Given the description of an element on the screen output the (x, y) to click on. 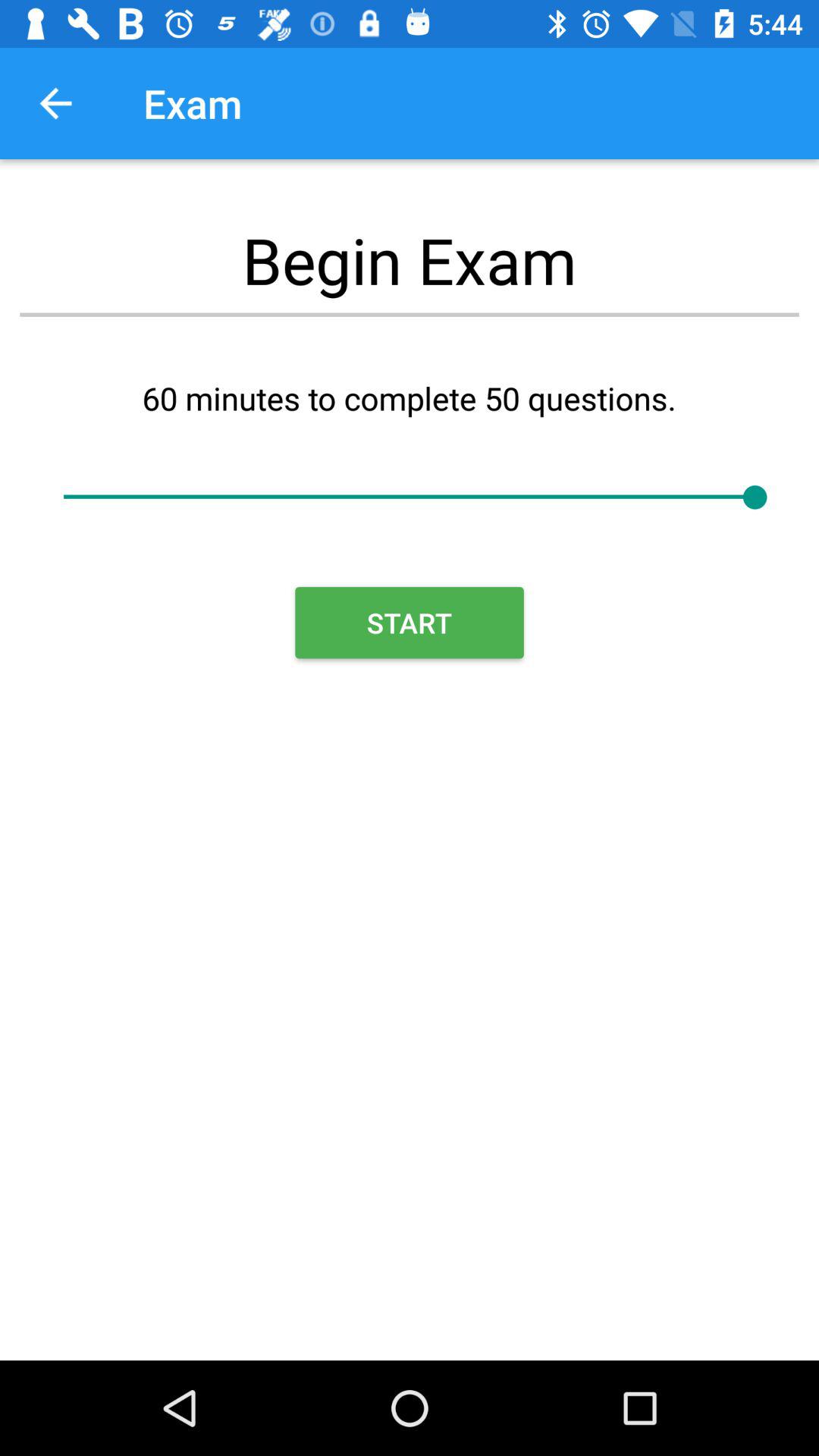
click the start icon (409, 622)
